Given the description of an element on the screen output the (x, y) to click on. 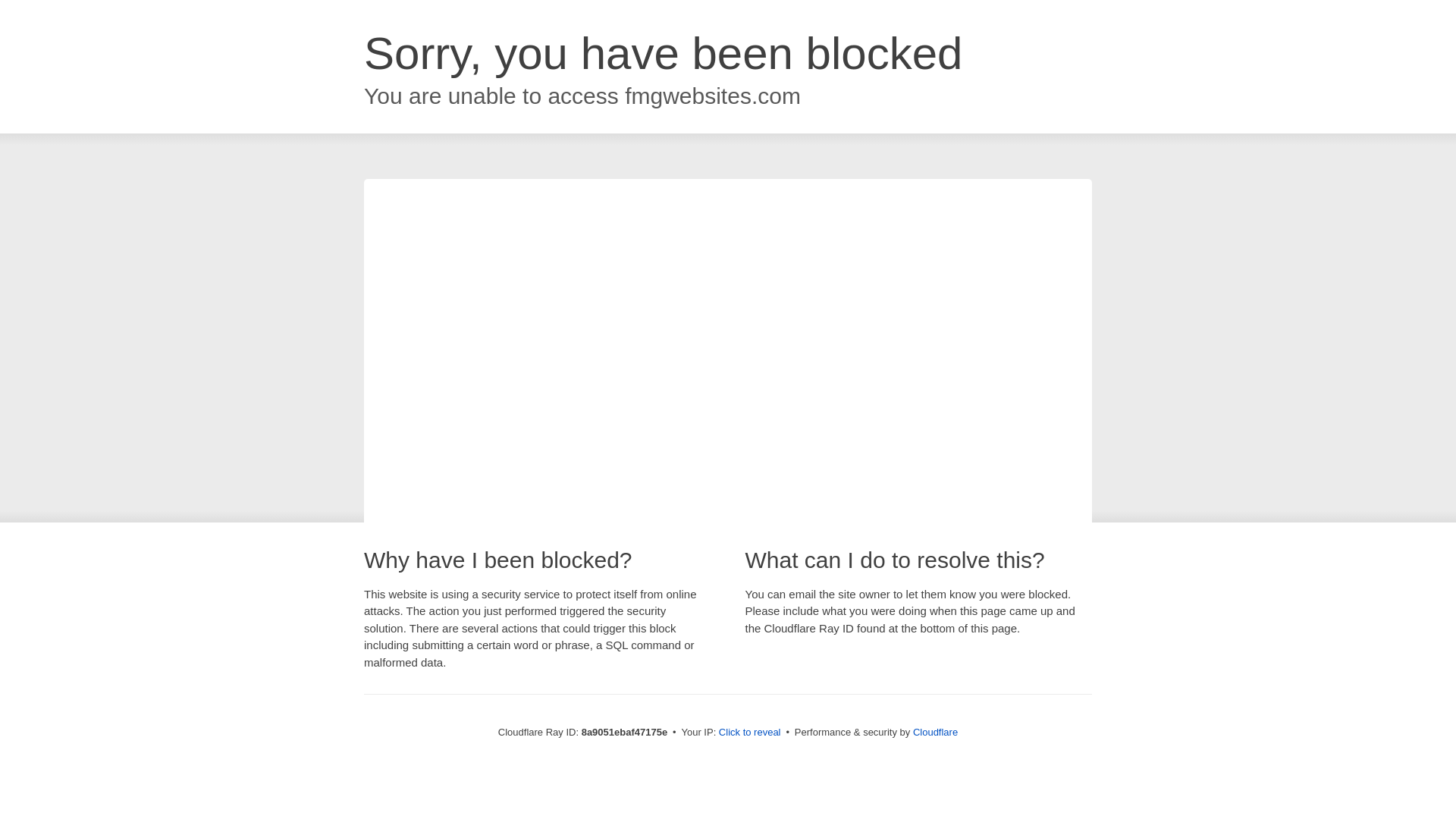
Cloudflare (935, 731)
Click to reveal (749, 732)
